Given the description of an element on the screen output the (x, y) to click on. 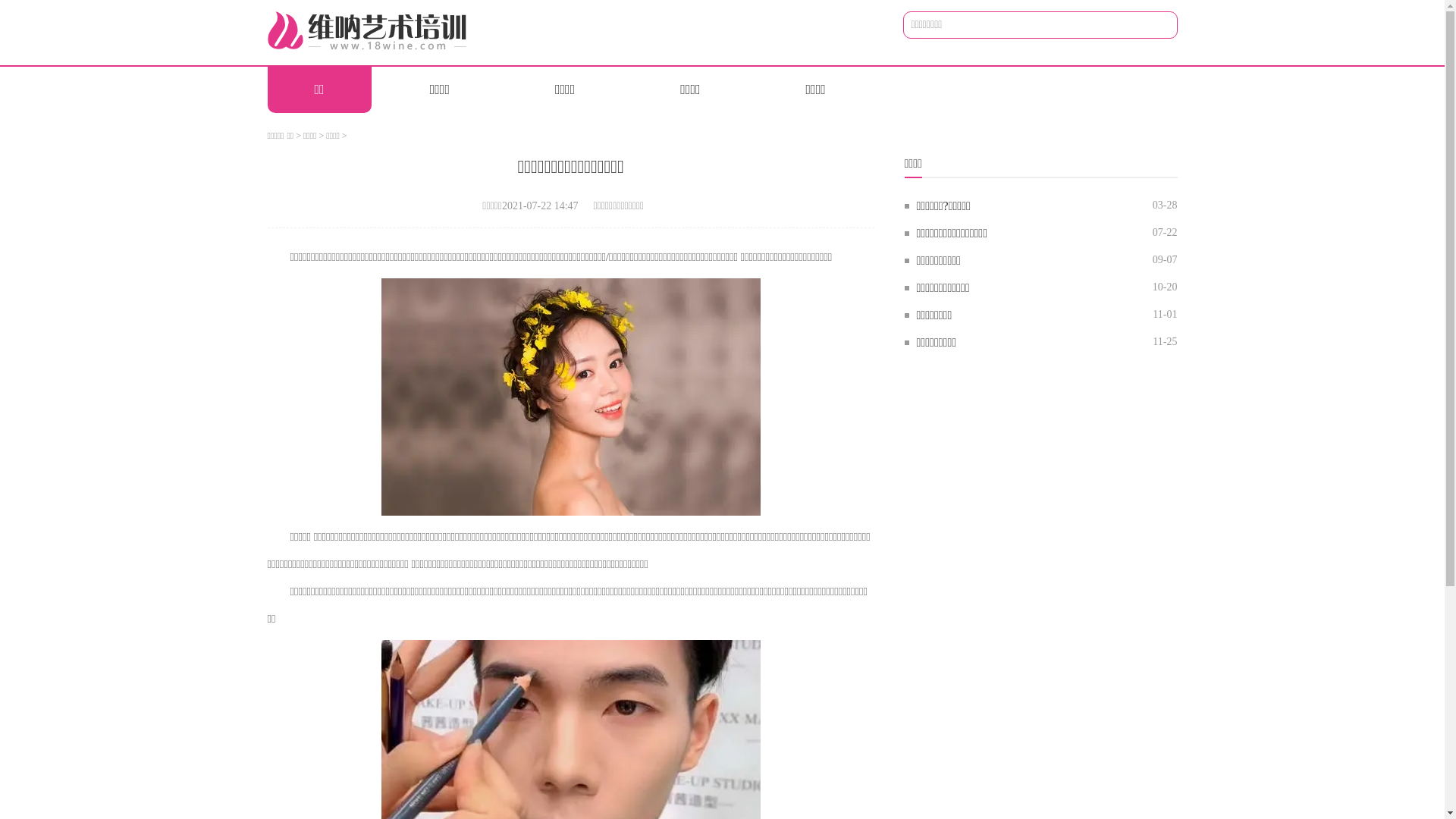
16269366093245.jpg Element type: hover (570, 396)
